Given the description of an element on the screen output the (x, y) to click on. 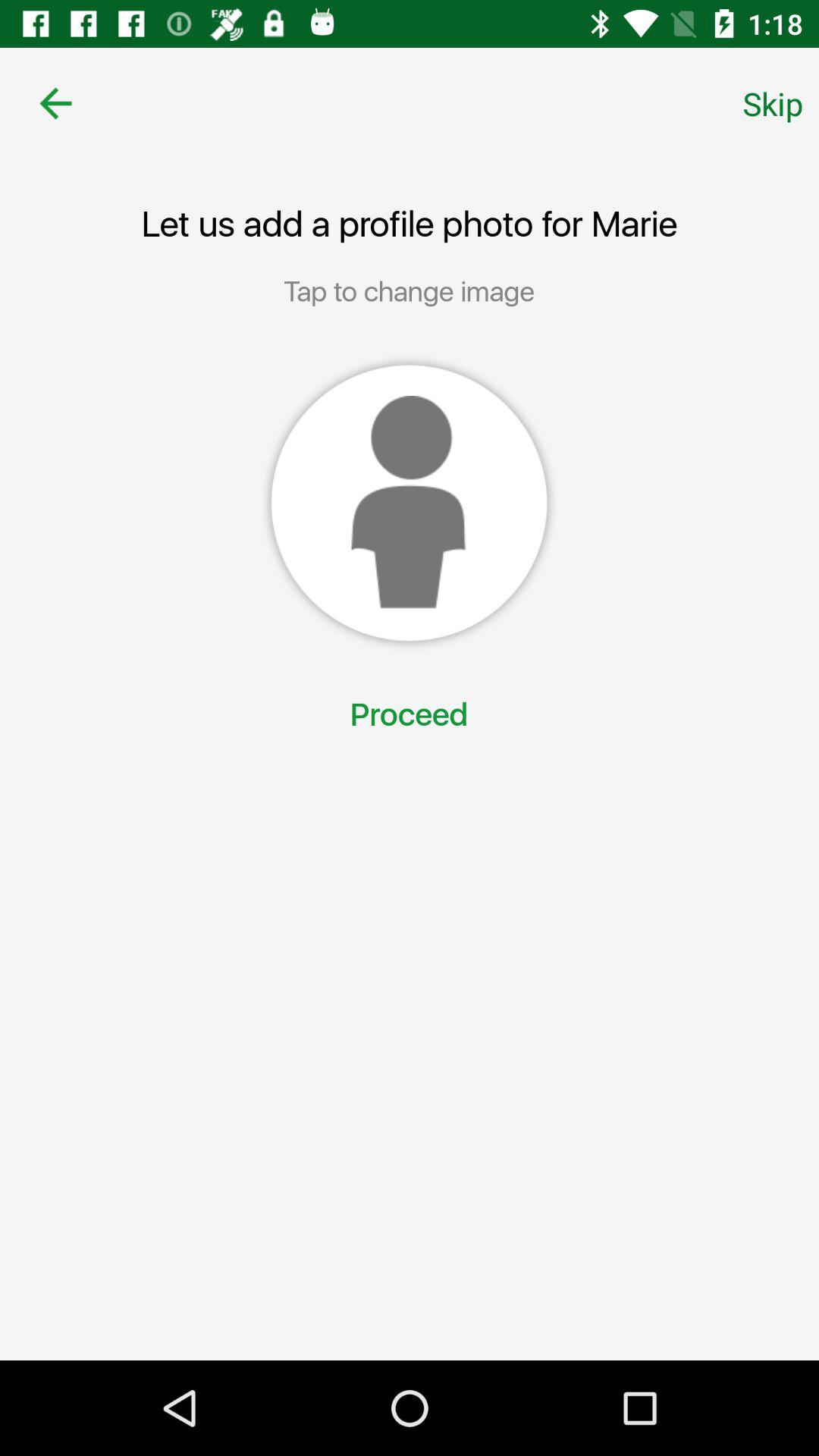
open icon to the left of the skip item (55, 103)
